Given the description of an element on the screen output the (x, y) to click on. 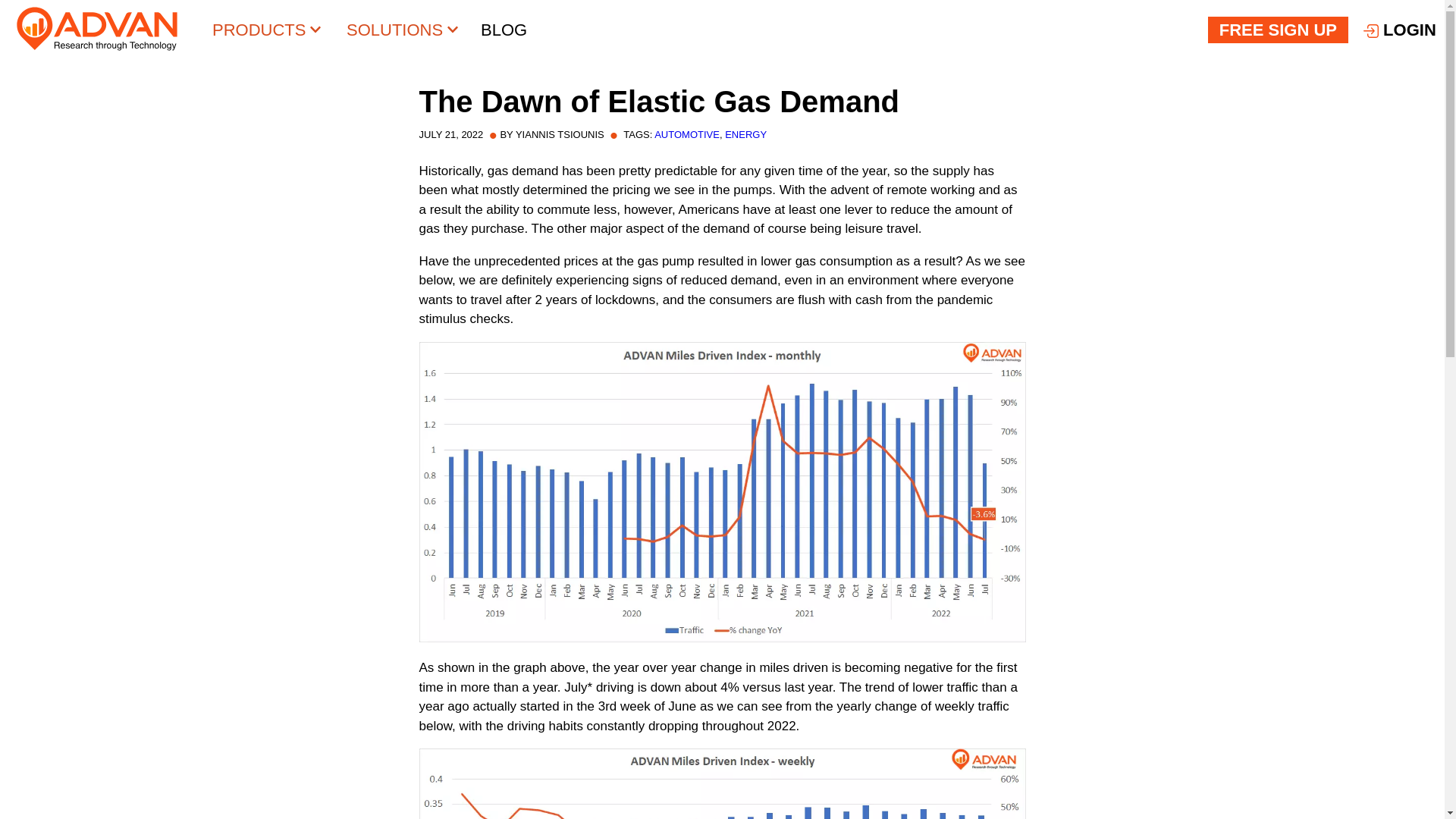
Advan Miles driven index weekly (722, 783)
LOGIN (1392, 30)
PRODUCTS (266, 30)
ENERGY (746, 134)
SOLUTIONS (402, 30)
AUTOMOTIVE (686, 134)
FREE SIGN UP (1278, 29)
YIANNIS TSIOUNIS (559, 134)
BLOG (503, 30)
